Given the description of an element on the screen output the (x, y) to click on. 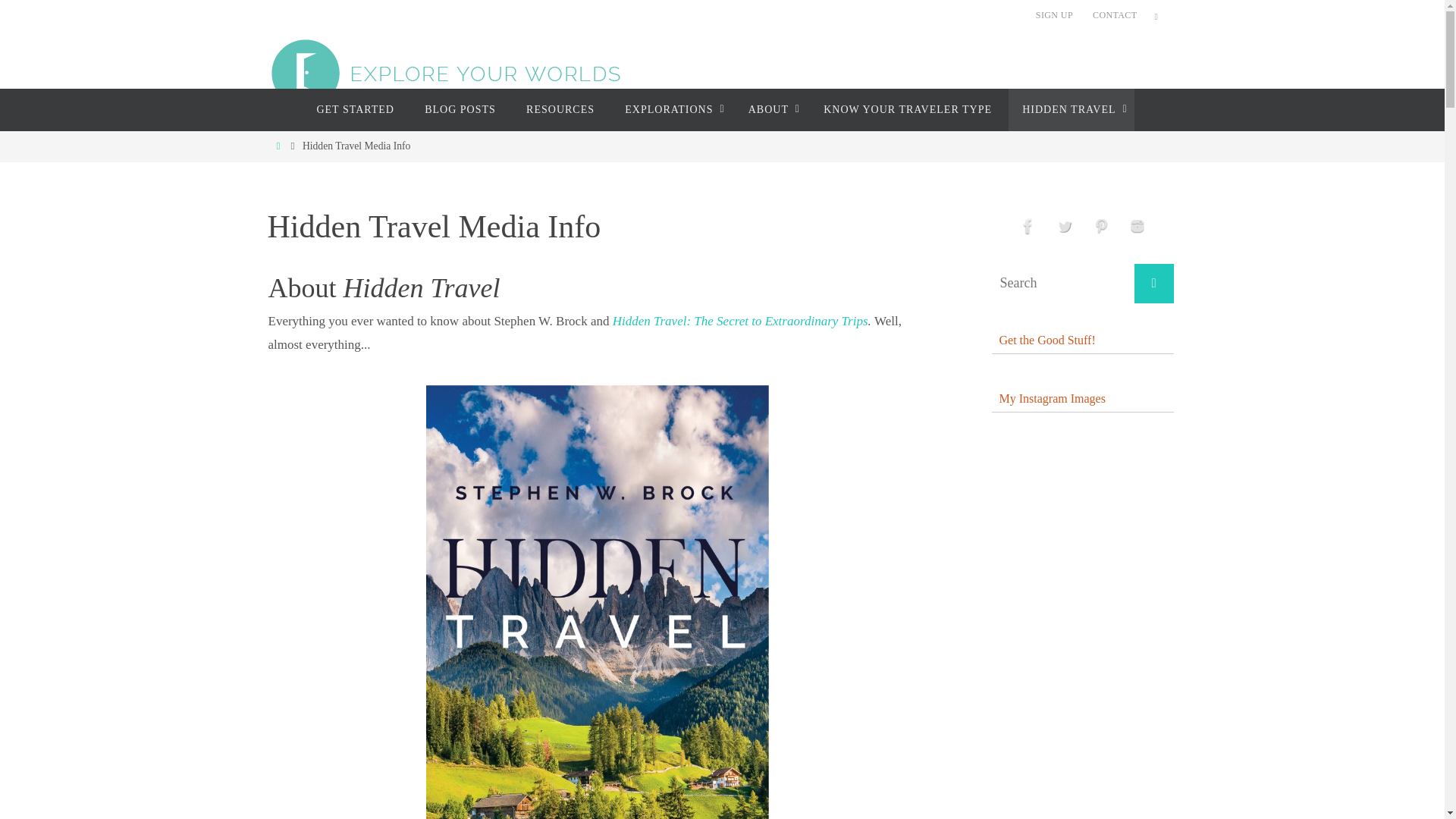
HIDDEN TRAVEL (1071, 109)
Home (277, 145)
CONTACT (1114, 14)
Facebook (1027, 225)
GET STARTED (354, 109)
Instagram (1136, 225)
EXPLORATIONS (670, 109)
Pinterest (1100, 225)
KNOW YOUR TRAVELER TYPE (907, 109)
Hidden Travel: The Secret to Extraordinary Trips (739, 320)
